Given the description of an element on the screen output the (x, y) to click on. 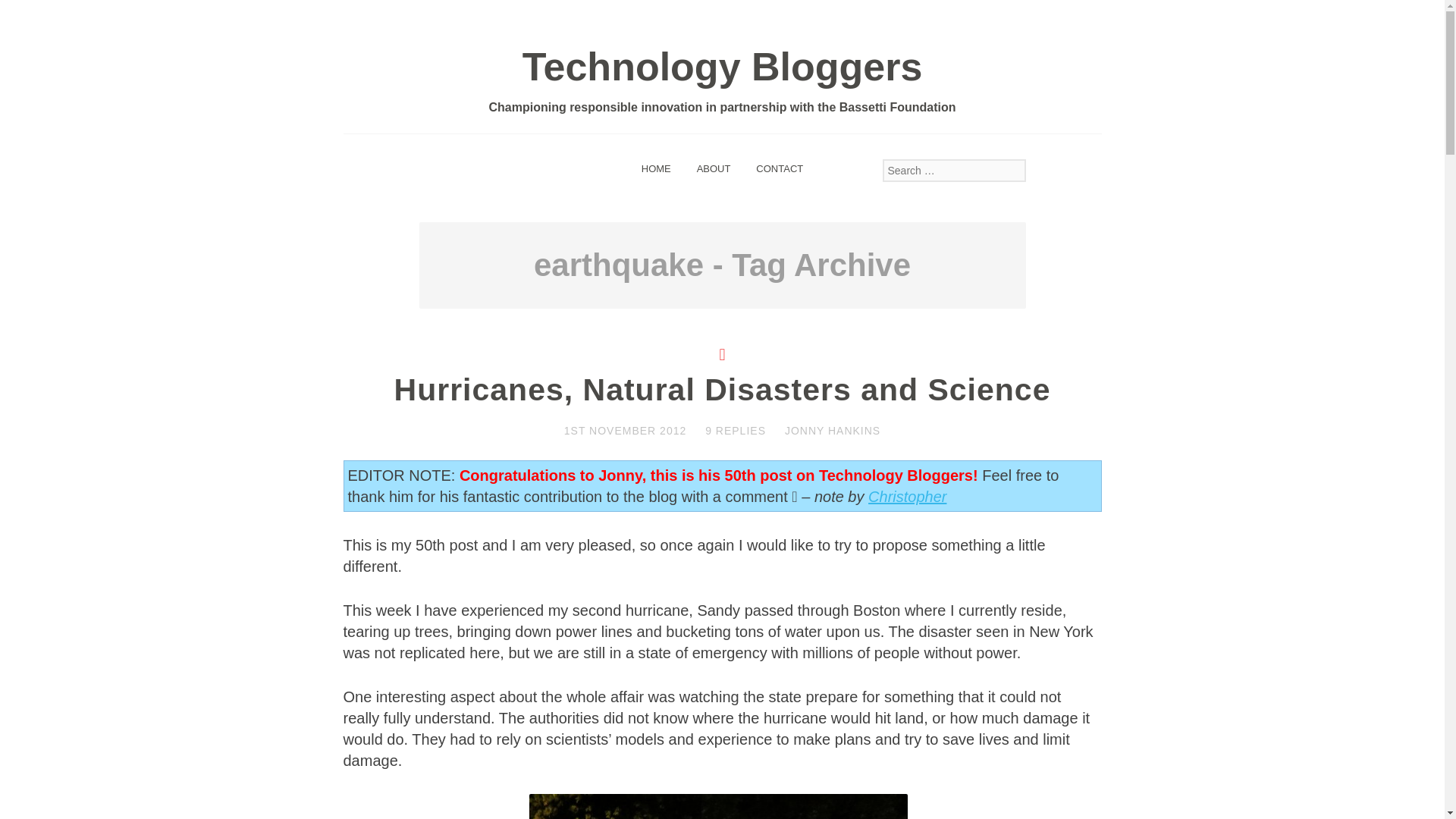
Technology Bloggers (722, 66)
CONTACT (778, 167)
1ST NOVEMBER 2012 (624, 430)
Hurricanes, Natural Disasters and Science (722, 389)
Technology Bloggers Homepage (656, 167)
View all posts by Jonny Hankins (832, 430)
Christopher Roberts Profile (906, 496)
Technology Bloggers (722, 66)
About Technology Bloggers (713, 167)
ABOUT (713, 167)
